Given the description of an element on the screen output the (x, y) to click on. 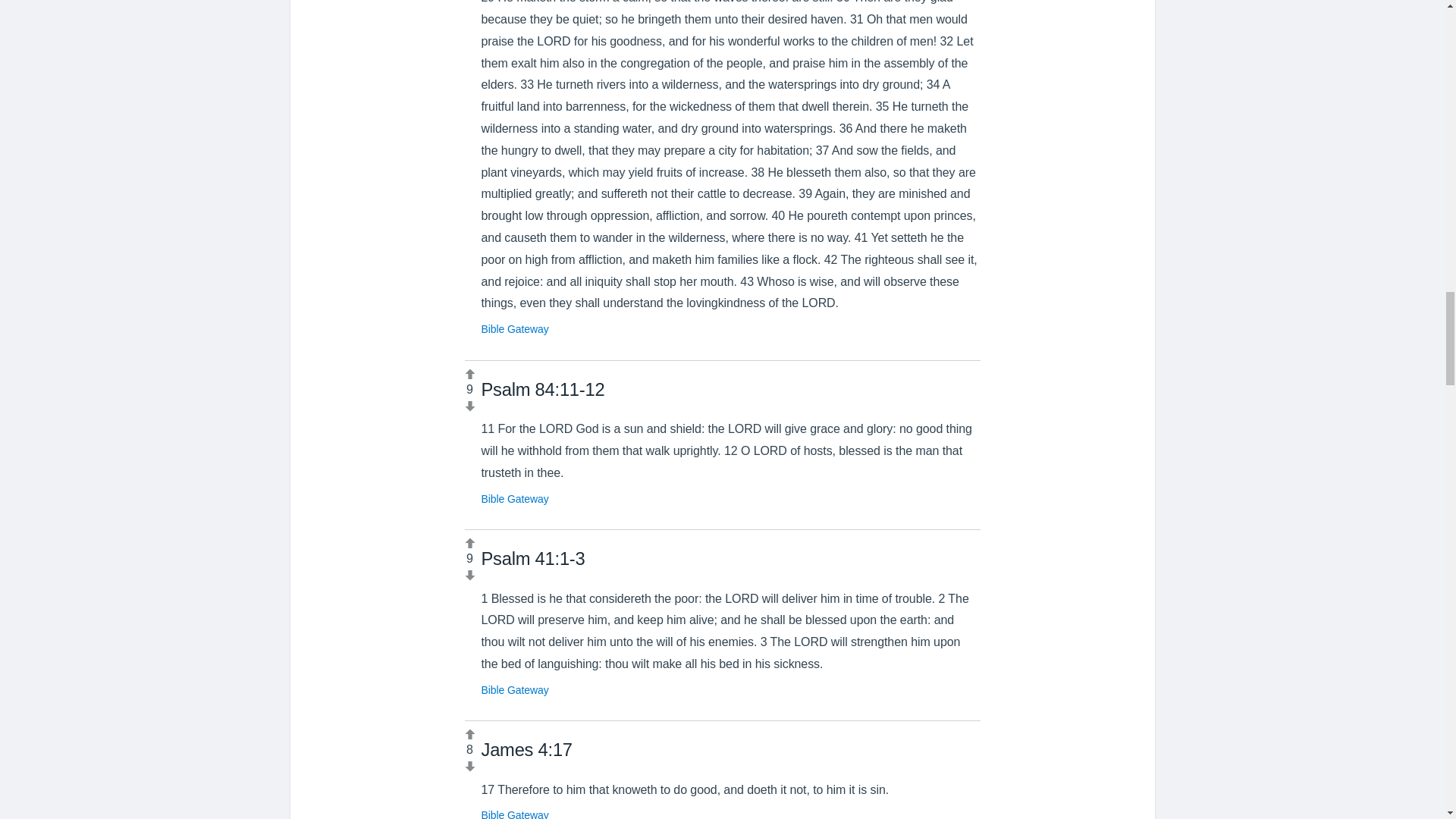
Bible Gateway (514, 499)
Bible Gateway (514, 814)
Bible Gateway (514, 328)
Bible Gateway (514, 689)
